Given the description of an element on the screen output the (x, y) to click on. 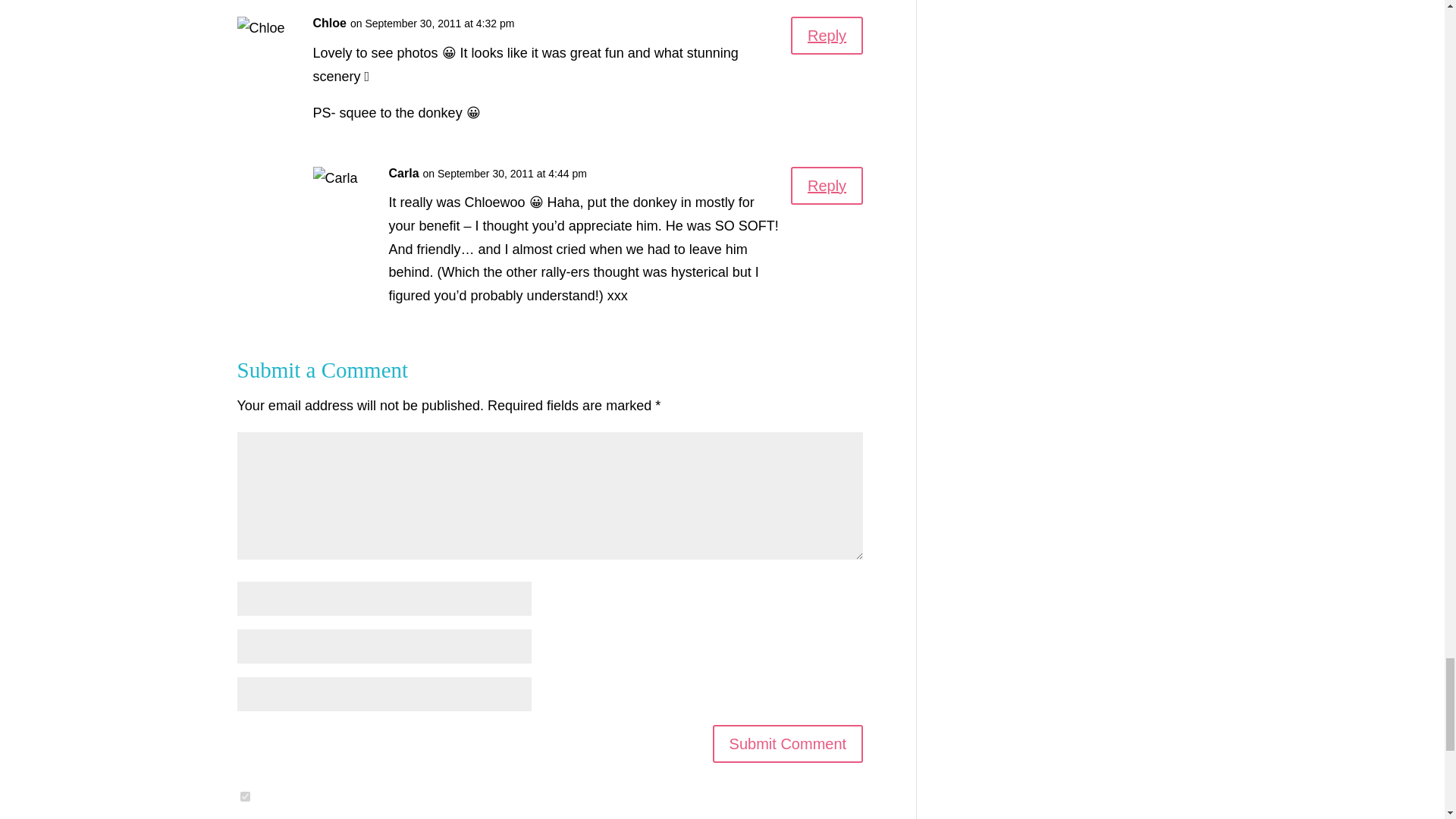
on (244, 796)
Submit Comment (788, 743)
